Given the description of an element on the screen output the (x, y) to click on. 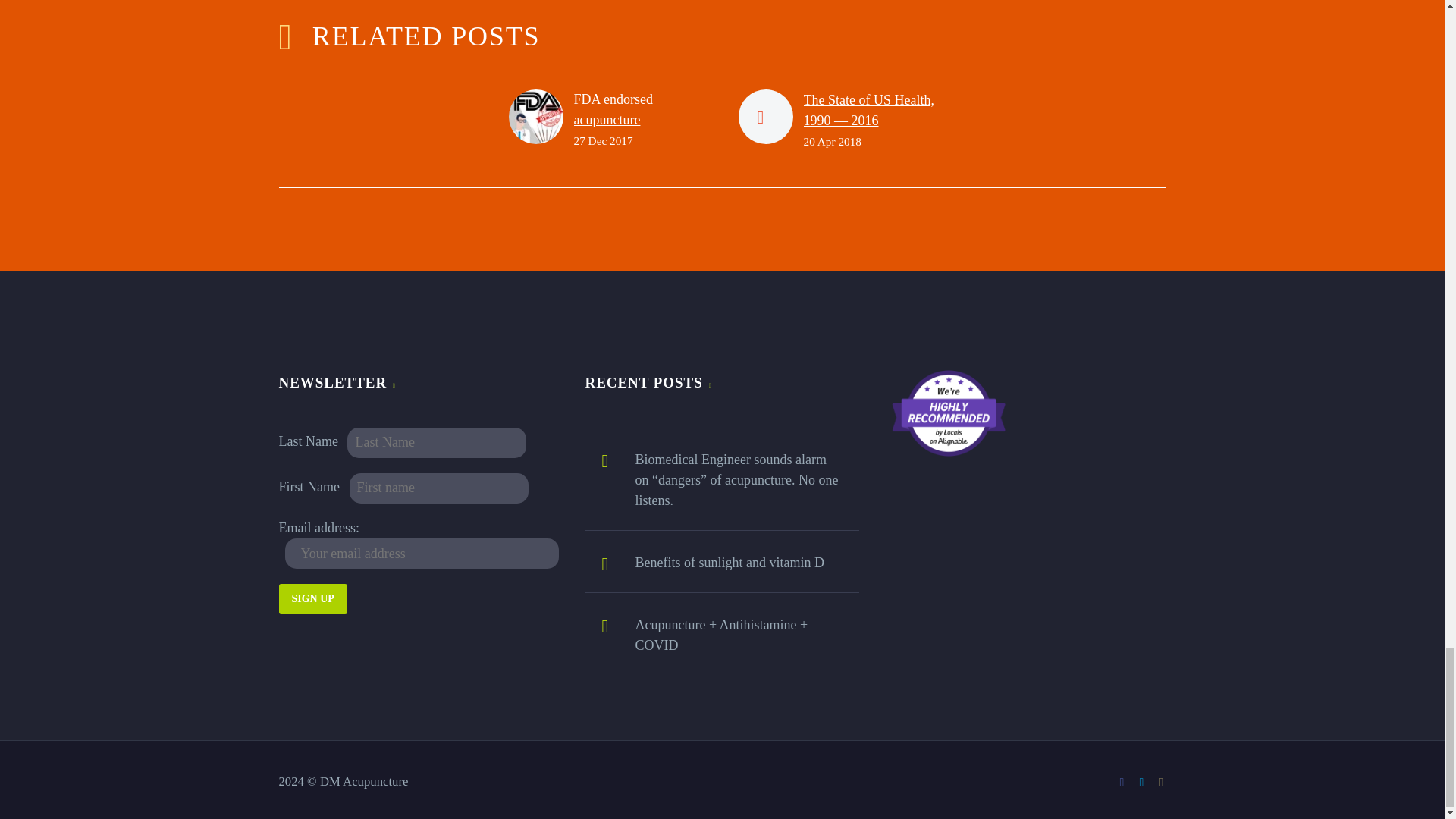
Sign up (313, 598)
FDA endorsed acupuncture (612, 109)
Highly Recommended by Locals On Alignable (948, 413)
